Given the description of an element on the screen output the (x, y) to click on. 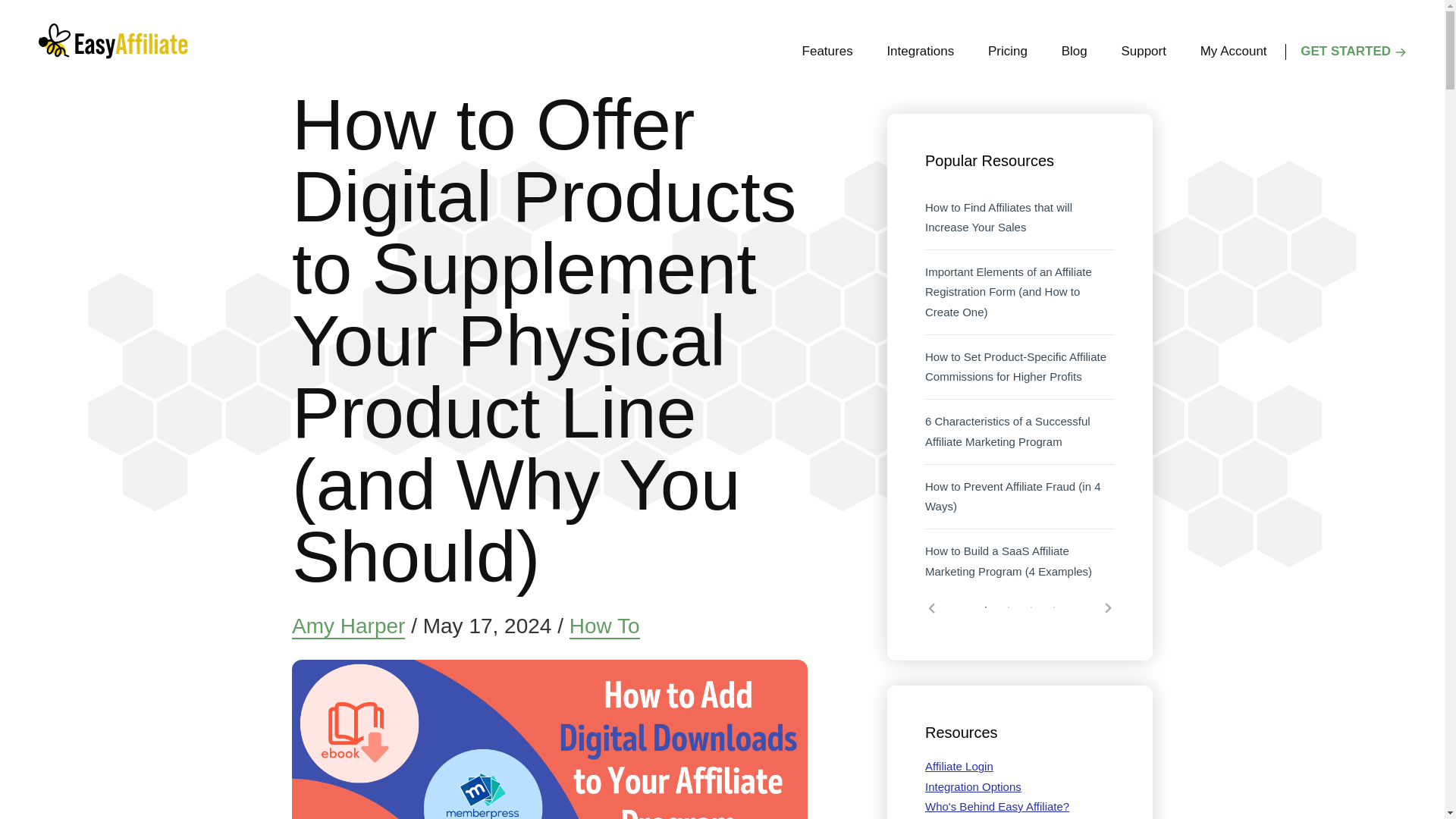
GET STARTED (1345, 51)
Integrations (919, 51)
Features (827, 51)
Amy Harper (348, 626)
My Account (1233, 51)
Blog (1074, 51)
Pricing (1007, 51)
How To (604, 626)
Support (1142, 51)
